Given the description of an element on the screen output the (x, y) to click on. 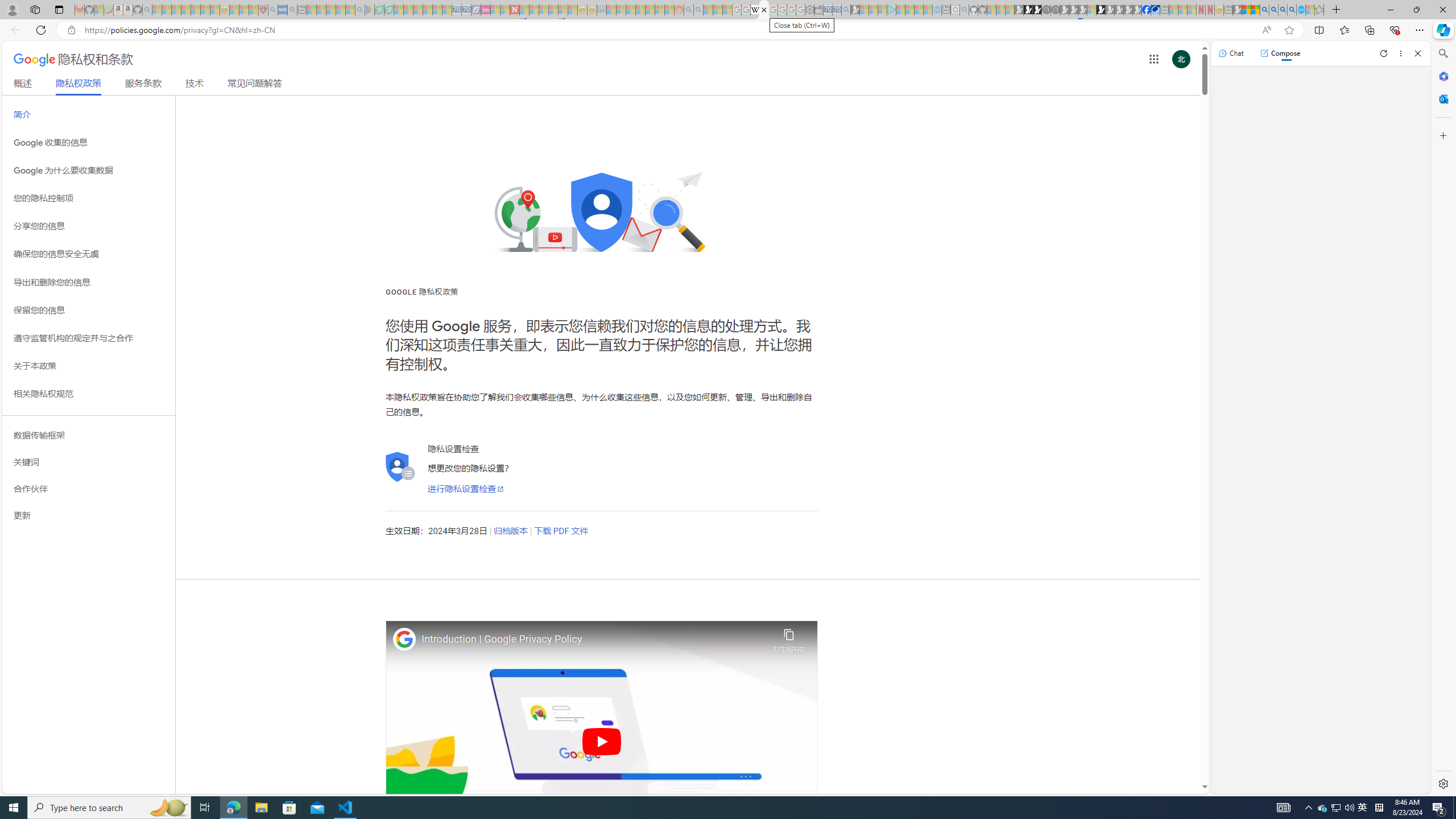
AirNow.gov (1154, 9)
Home | Sky Blue Bikes - Sky Blue Bikes - Sleeping (936, 9)
Introduction | Google Privacy Policy (593, 639)
